Given the description of an element on the screen output the (x, y) to click on. 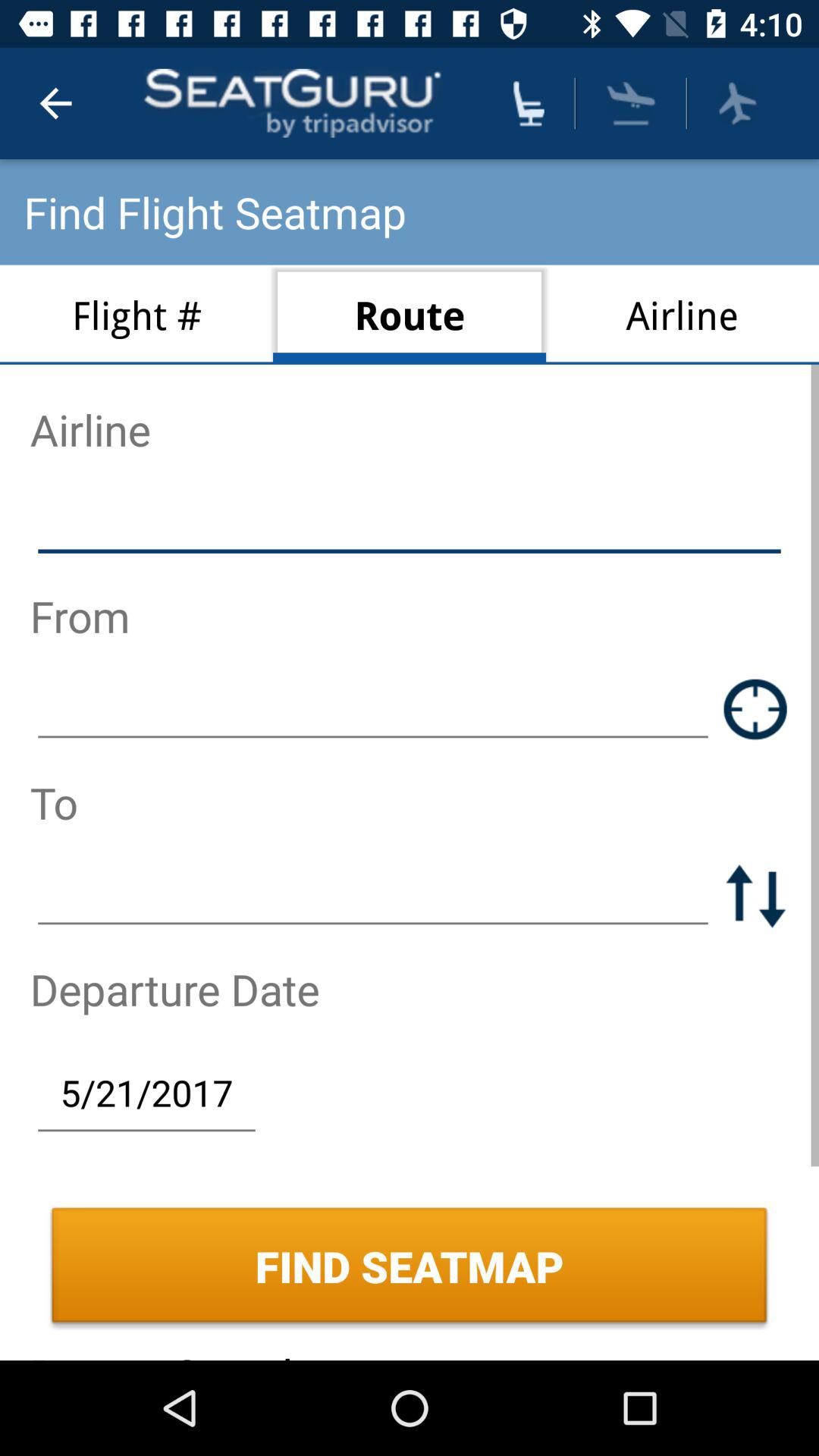
switch elements (755, 895)
